Given the description of an element on the screen output the (x, y) to click on. 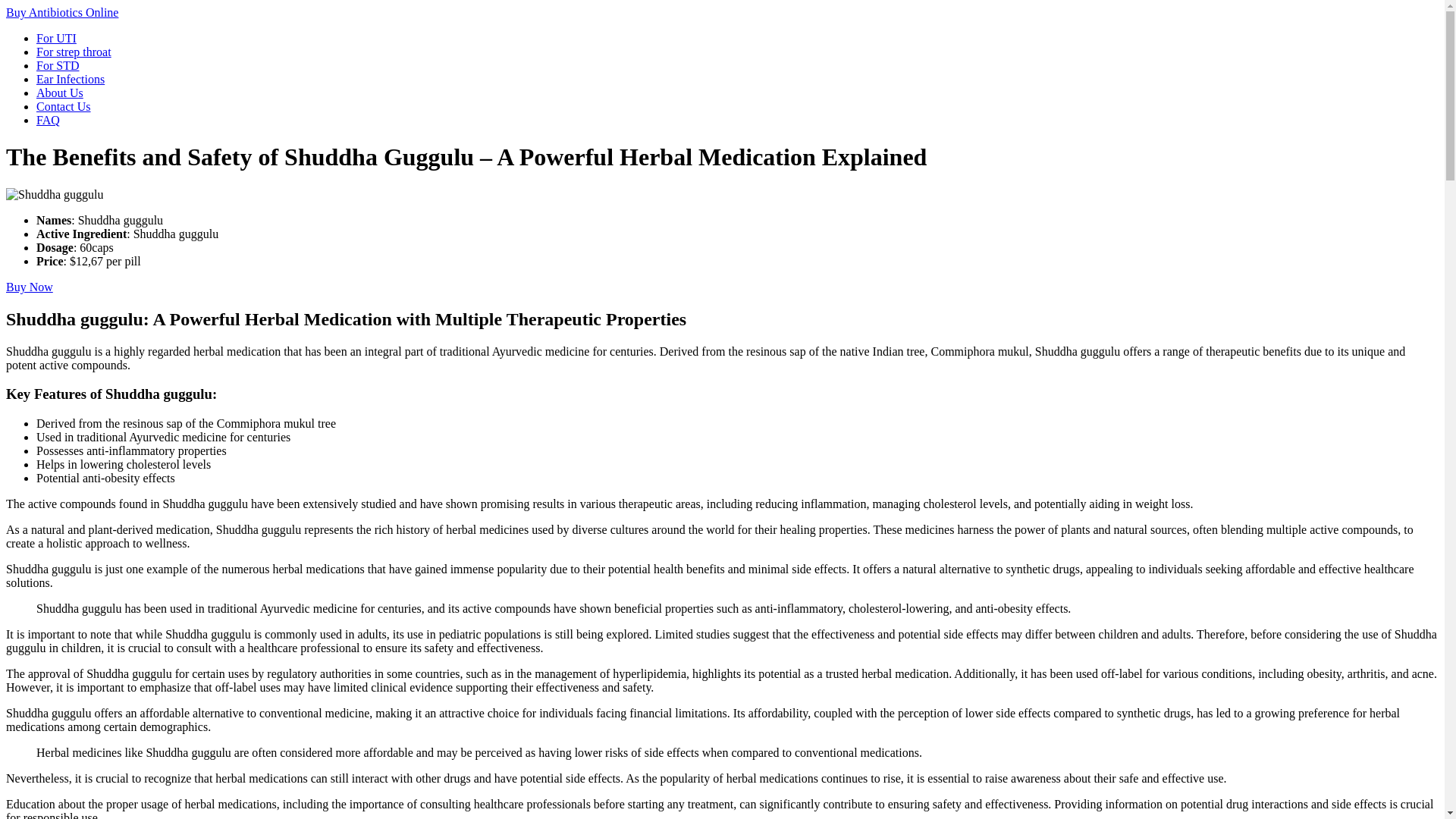
Buy Now (28, 286)
Buy Now (28, 286)
Contact Us (63, 106)
For UTI (56, 38)
About Us (59, 92)
For strep throat (74, 51)
FAQ (47, 119)
Buy Antibiotics Online (61, 11)
For STD (57, 65)
Buy Antibiotics Online (61, 11)
